Given the description of an element on the screen output the (x, y) to click on. 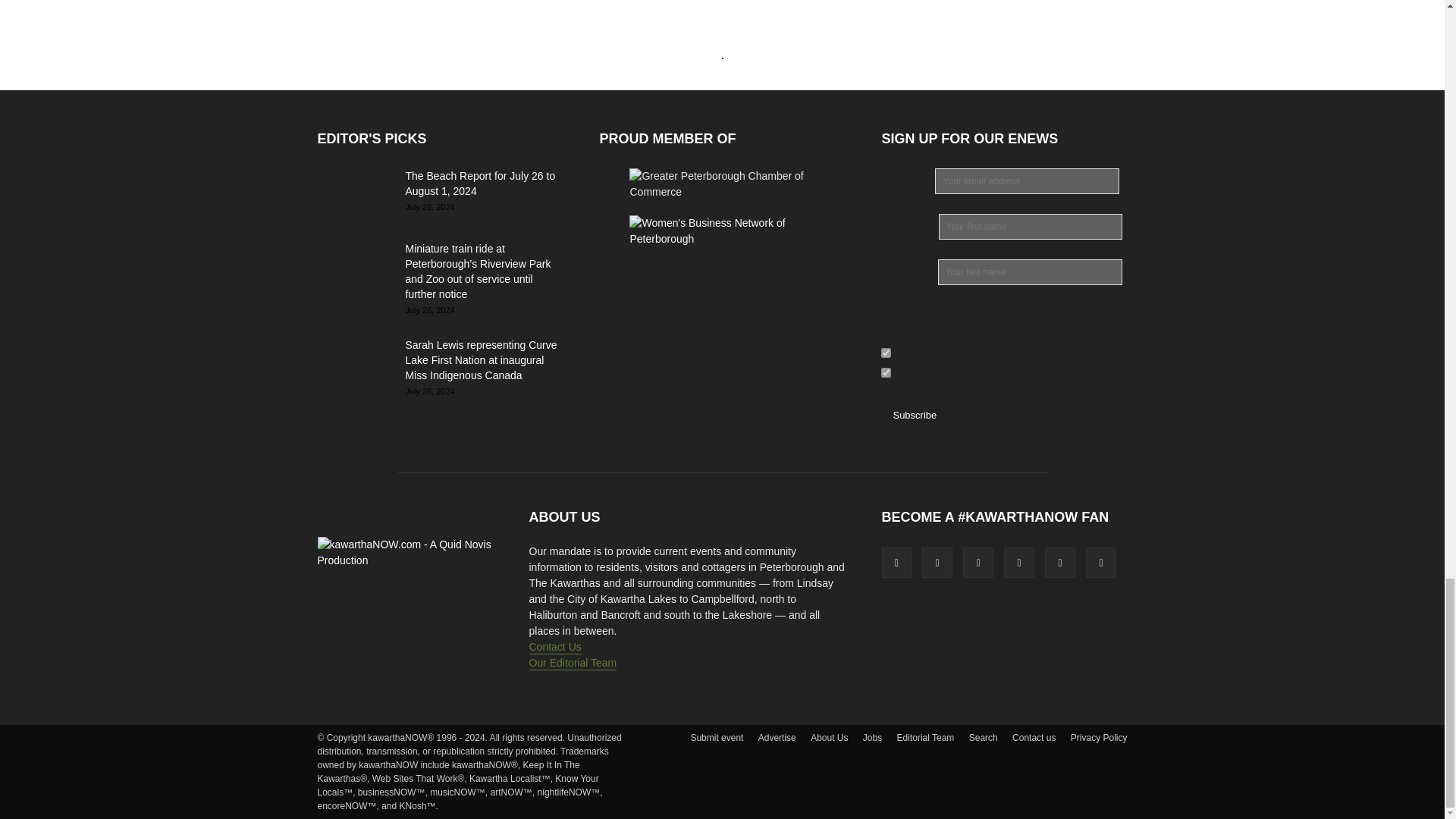
324c67885b (885, 372)
db73b12d6e (885, 352)
Subscribe (913, 414)
